Given the description of an element on the screen output the (x, y) to click on. 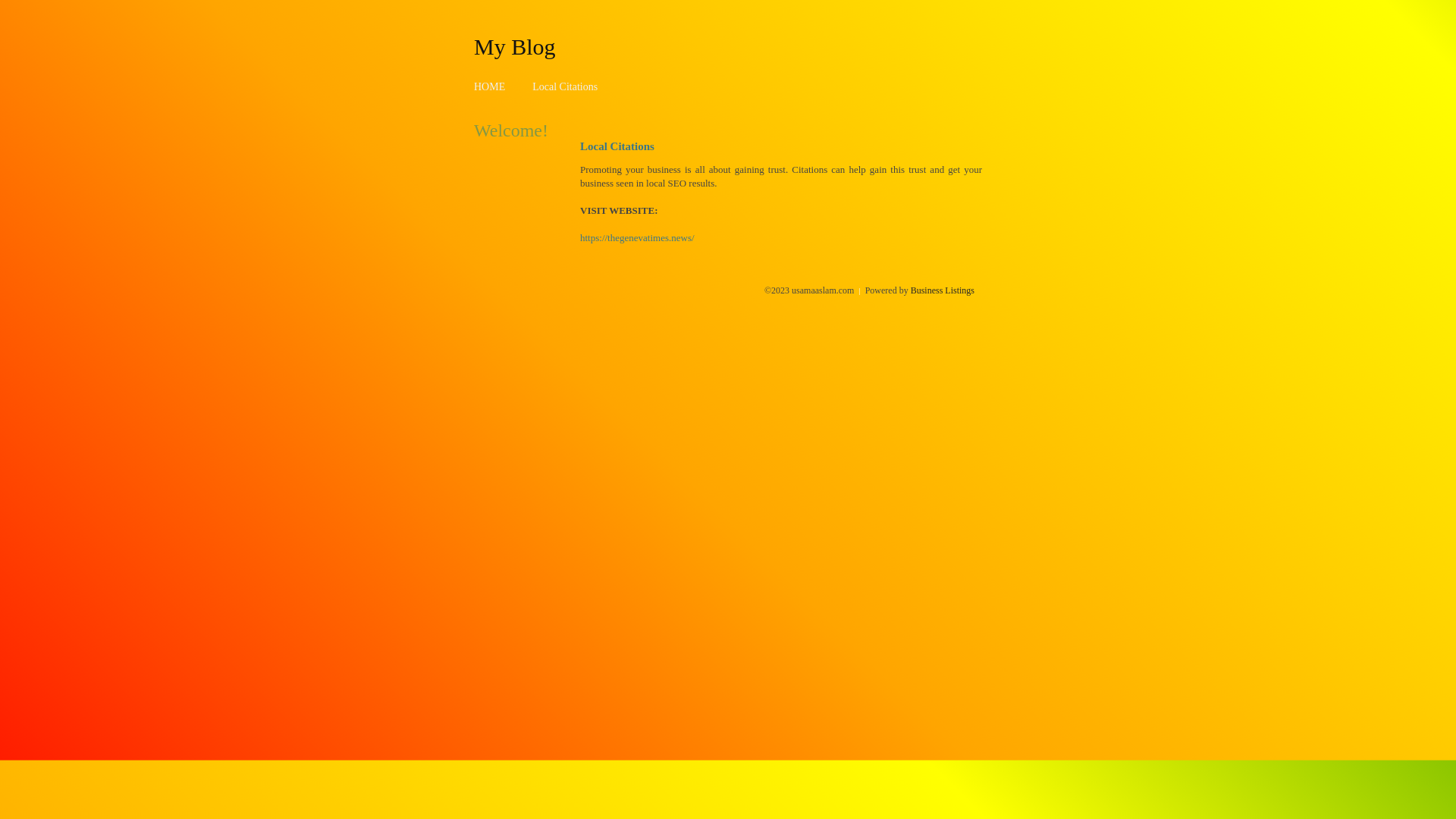
My Blog Element type: text (514, 46)
https://thegenevatimes.news/ Element type: text (637, 237)
Business Listings Element type: text (942, 290)
HOME Element type: text (489, 86)
Local Citations Element type: text (564, 86)
